Given the description of an element on the screen output the (x, y) to click on. 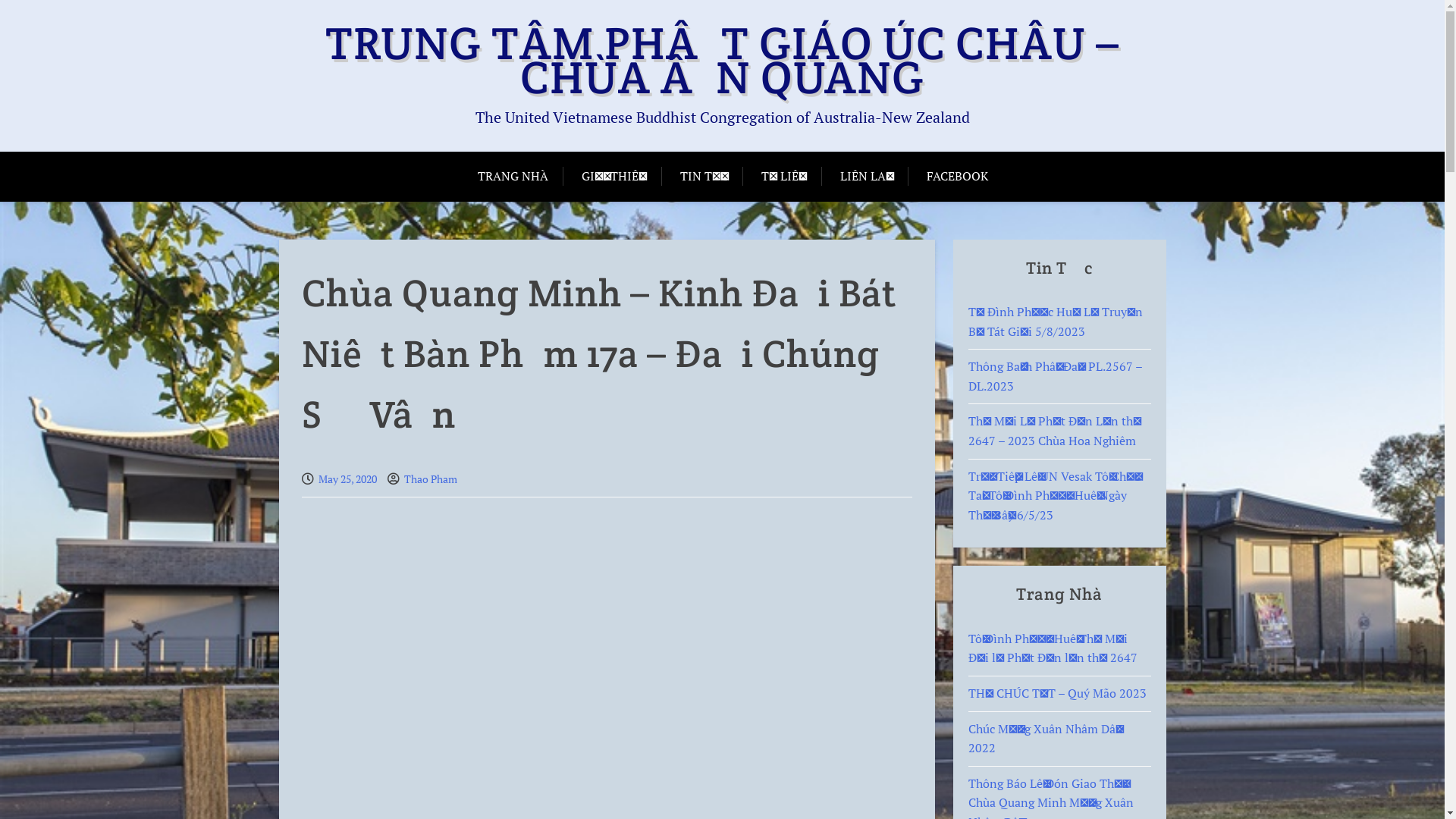
Thao Pham Element type: text (429, 478)
FACEBOOK Element type: text (957, 176)
May 25, 2020 Element type: text (347, 478)
